Given the description of an element on the screen output the (x, y) to click on. 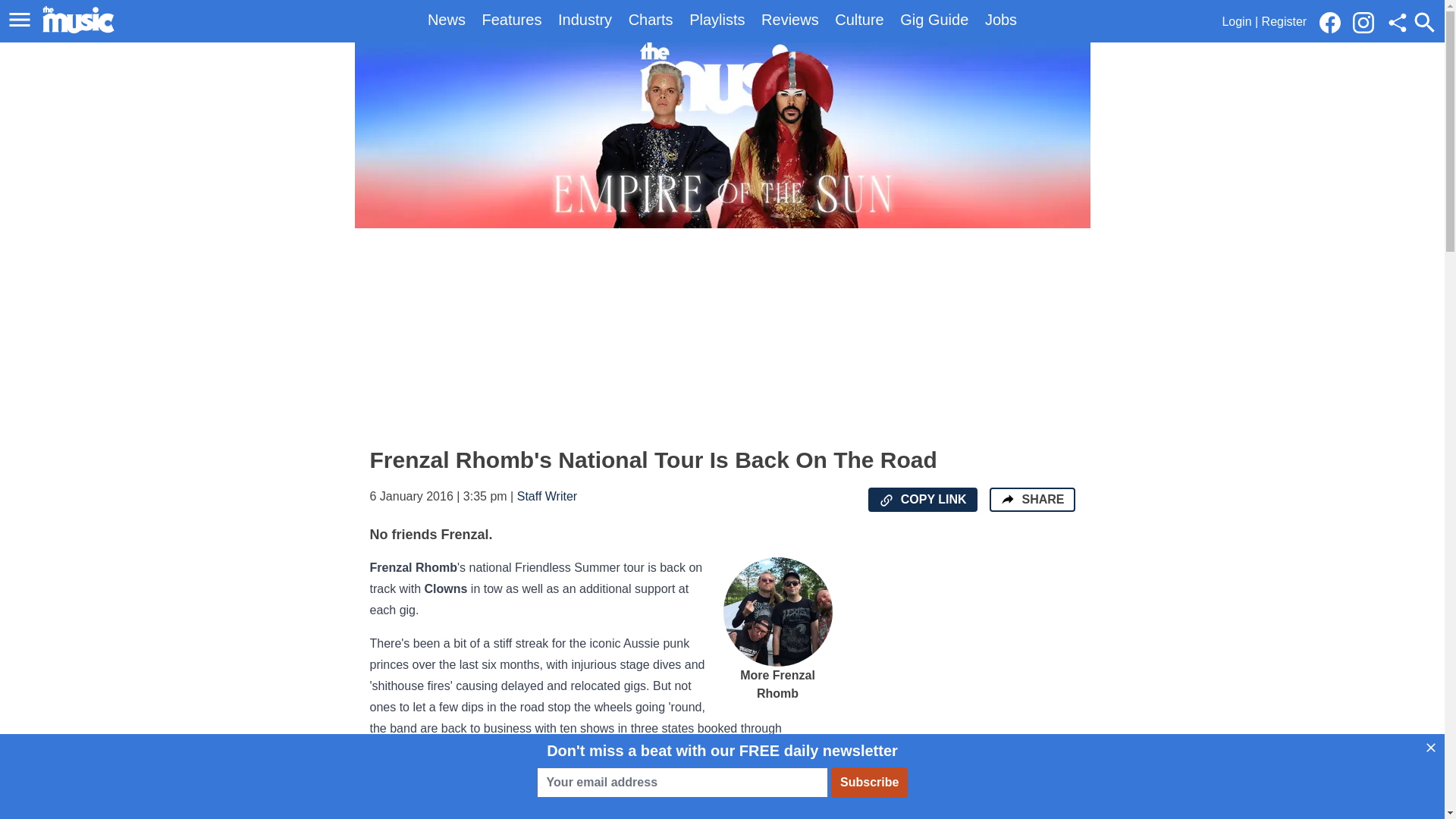
Register (1284, 21)
Features (511, 19)
Open the main menu (19, 19)
Playlists (716, 19)
Link to our Facebook (1334, 21)
Copy the page URL (886, 500)
Share the page (1007, 498)
Open the site search menu (1424, 22)
Login (1235, 21)
Link to our Instagram (1363, 22)
Open the site search menu (1424, 22)
Open the main menu (22, 19)
Link to our Instagram (1367, 21)
Industry (584, 19)
Staff Writer (546, 495)
